Given the description of an element on the screen output the (x, y) to click on. 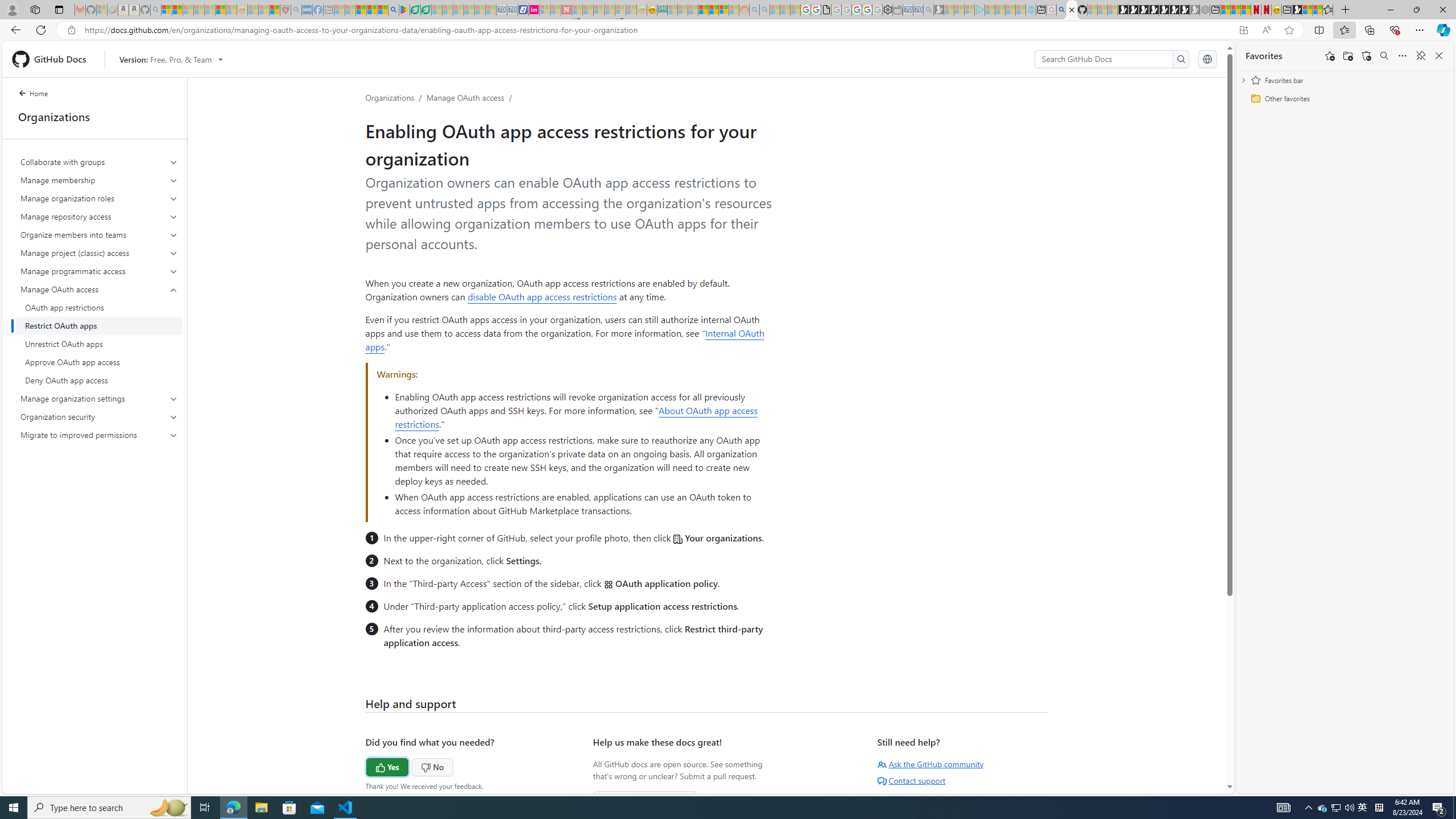
Manage membership (99, 180)
Manage organization settings (99, 398)
Expert Portfolios (703, 9)
Search favorites (1383, 55)
